Given the description of an element on the screen output the (x, y) to click on. 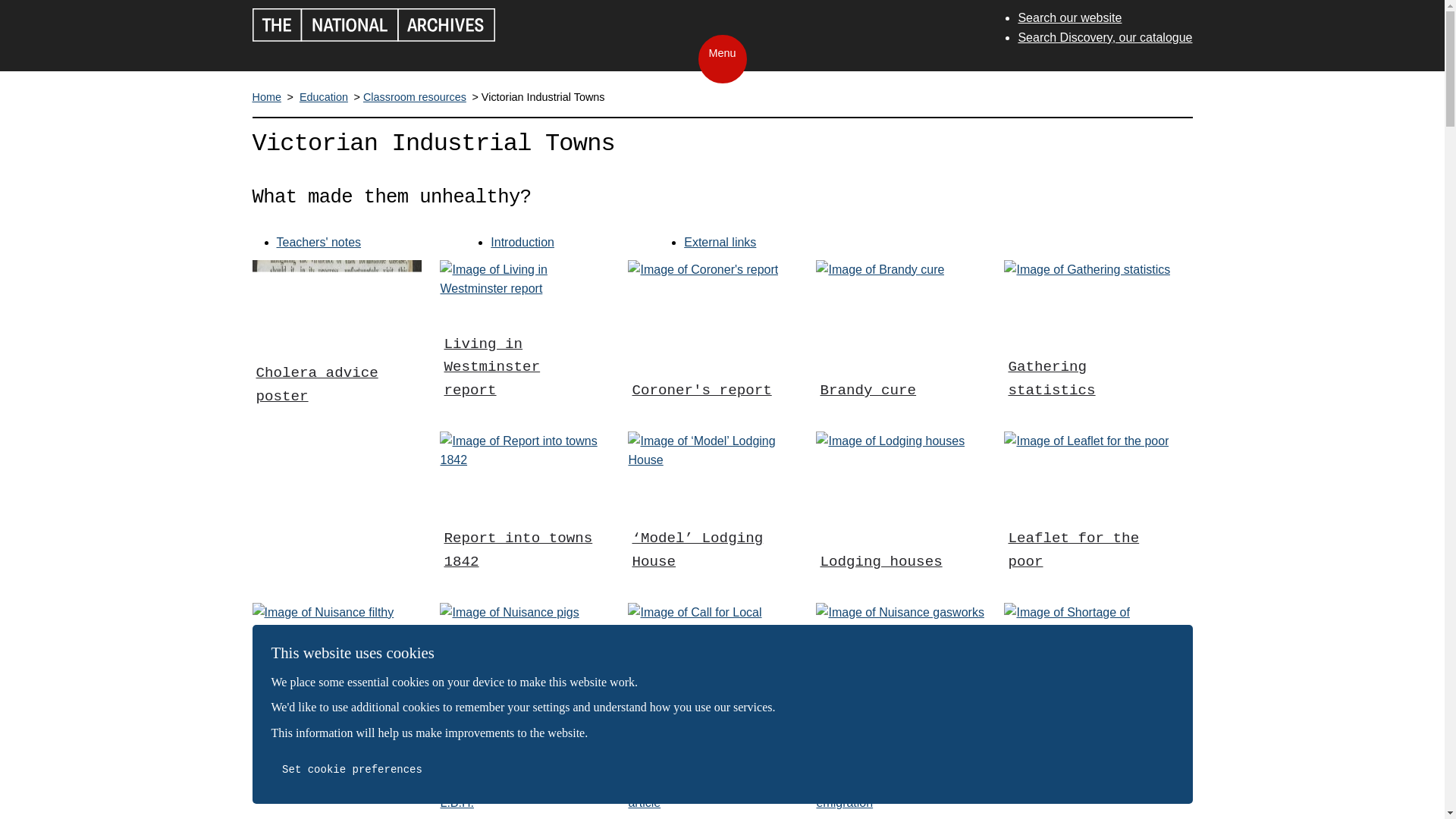
Search Discovery, our catalogue (1104, 37)
Leaflet for the poor (1086, 513)
Call for Local Board of Health (711, 684)
Gathering statistics (1087, 342)
Menu (721, 58)
The Cholera bath (329, 796)
Living in Westminster report (523, 342)
Lodging houses (889, 513)
Shortage of medical officers (1088, 684)
Search our website (1069, 17)
